Given the description of an element on the screen output the (x, y) to click on. 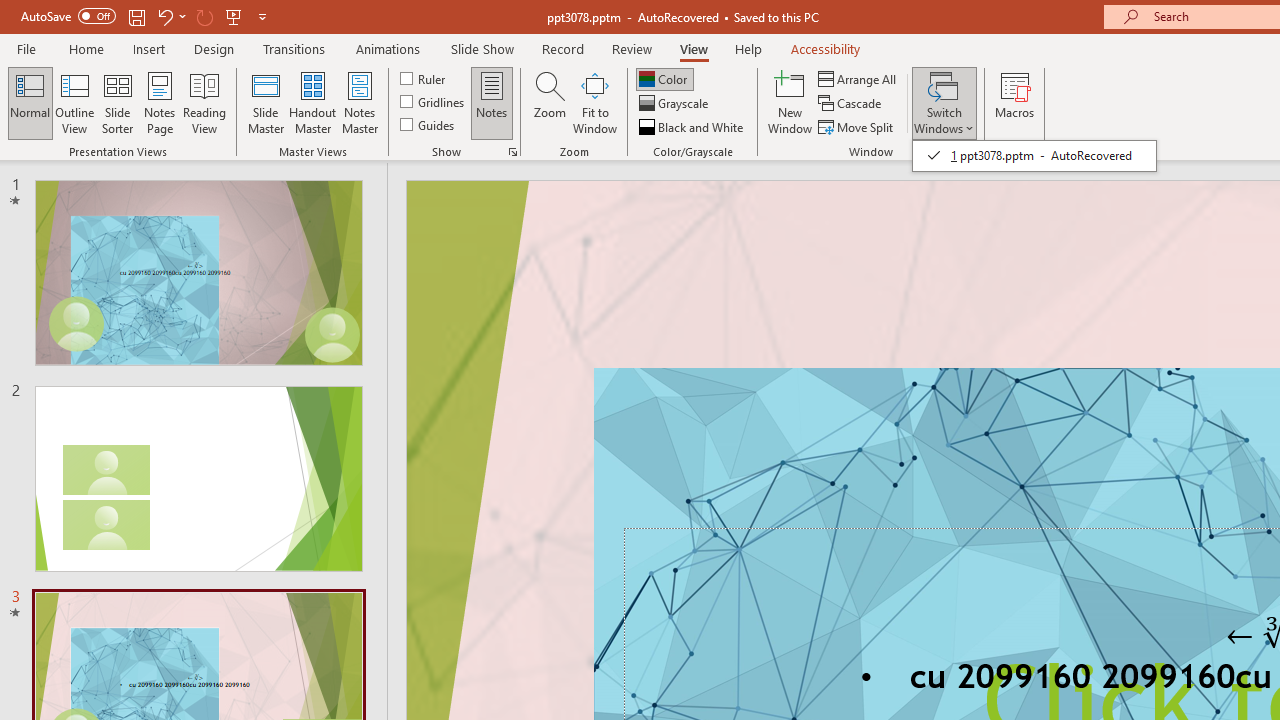
Switch Windows (943, 102)
Black and White (693, 126)
Arrange All (858, 78)
New Window (790, 102)
Guides (428, 124)
